Given the description of an element on the screen output the (x, y) to click on. 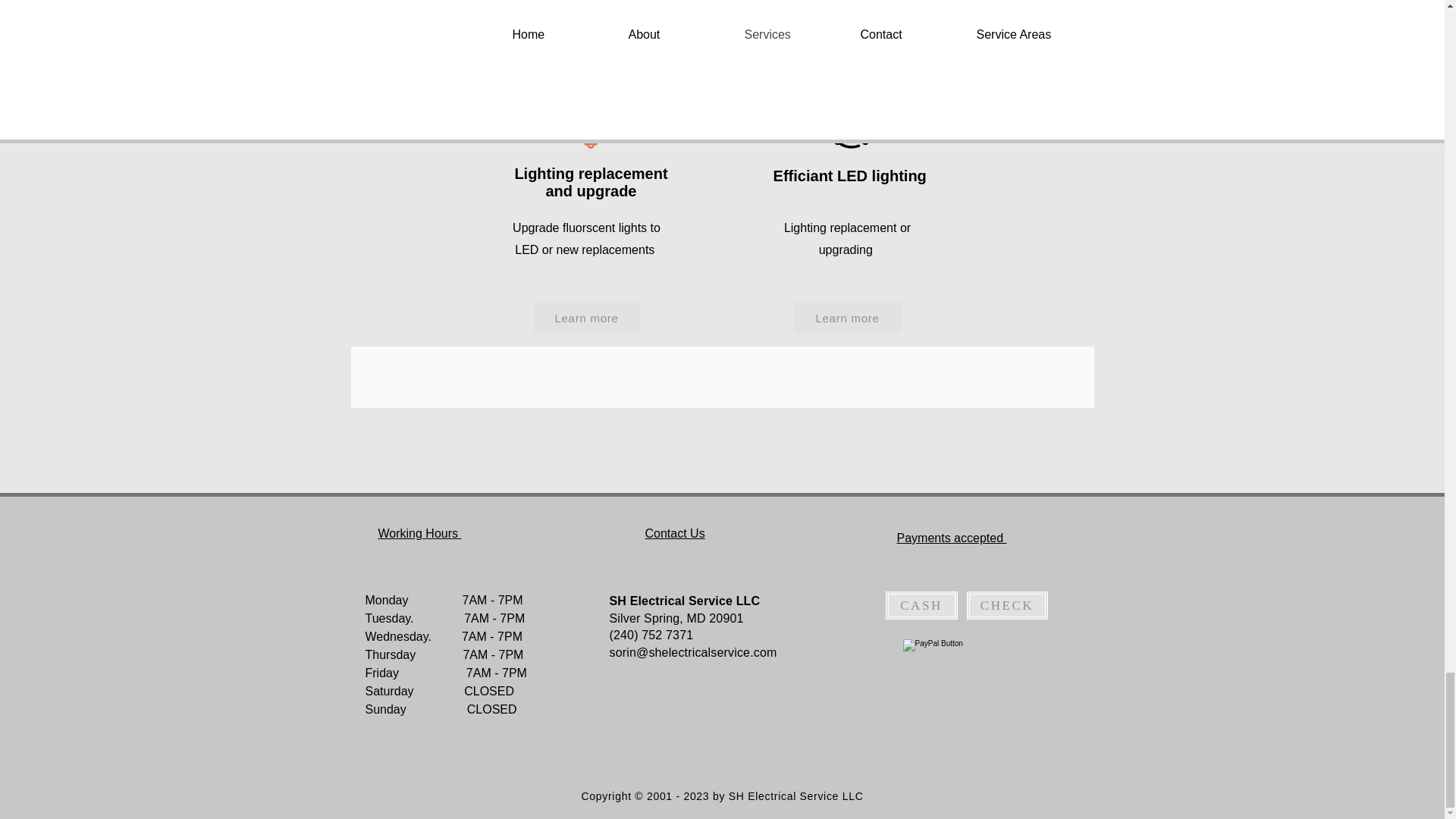
CHECK (1006, 605)
Learn more (586, 317)
CASH (921, 605)
Learn more (847, 317)
